Given the description of an element on the screen output the (x, y) to click on. 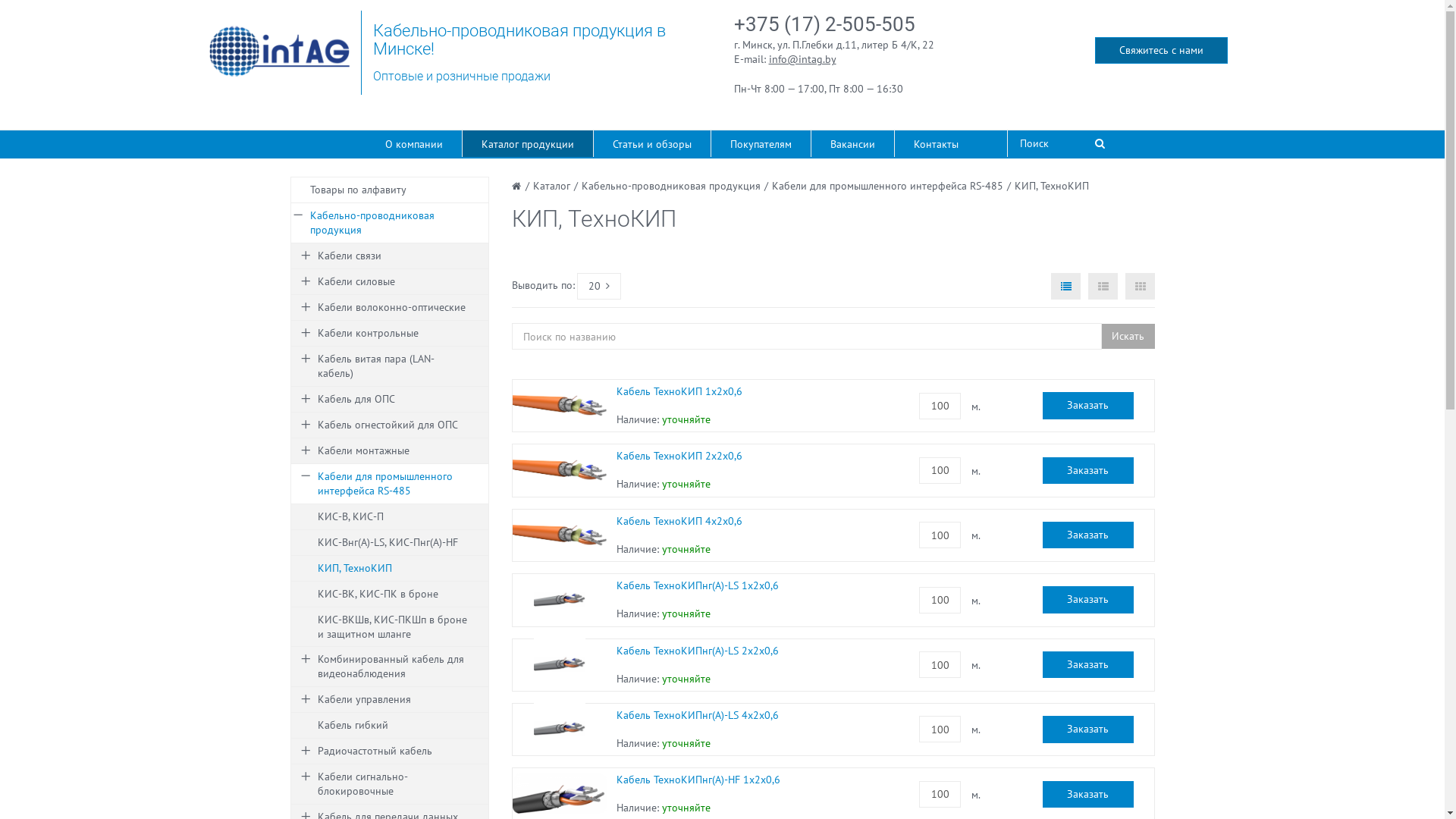
info@intag.by Element type: text (802, 58)
20 Element type: text (599, 286)
+375 (17) 2-505-505 Element type: text (824, 23)
